Given the description of an element on the screen output the (x, y) to click on. 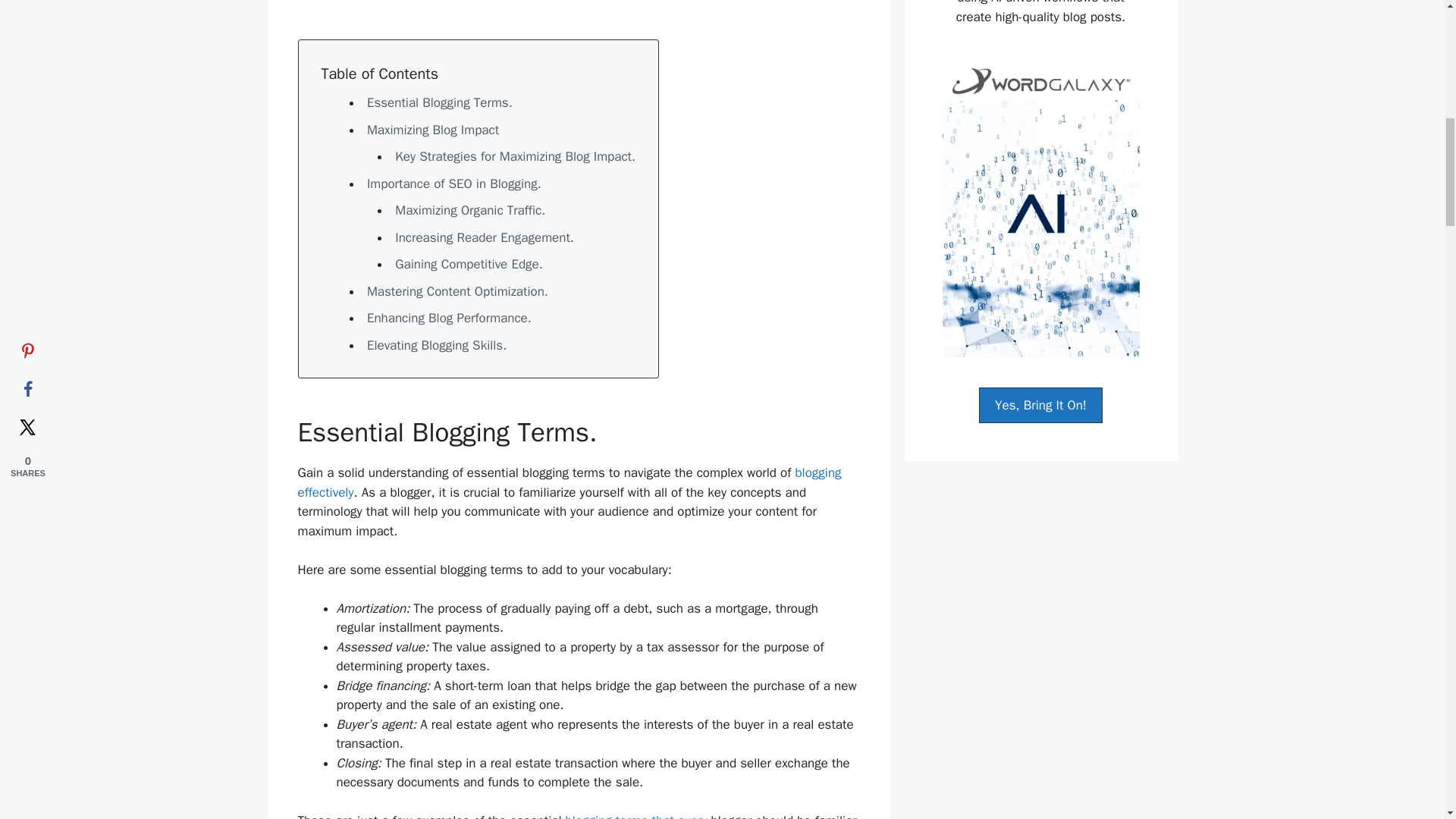
Scroll back to top (1406, 720)
